Given the description of an element on the screen output the (x, y) to click on. 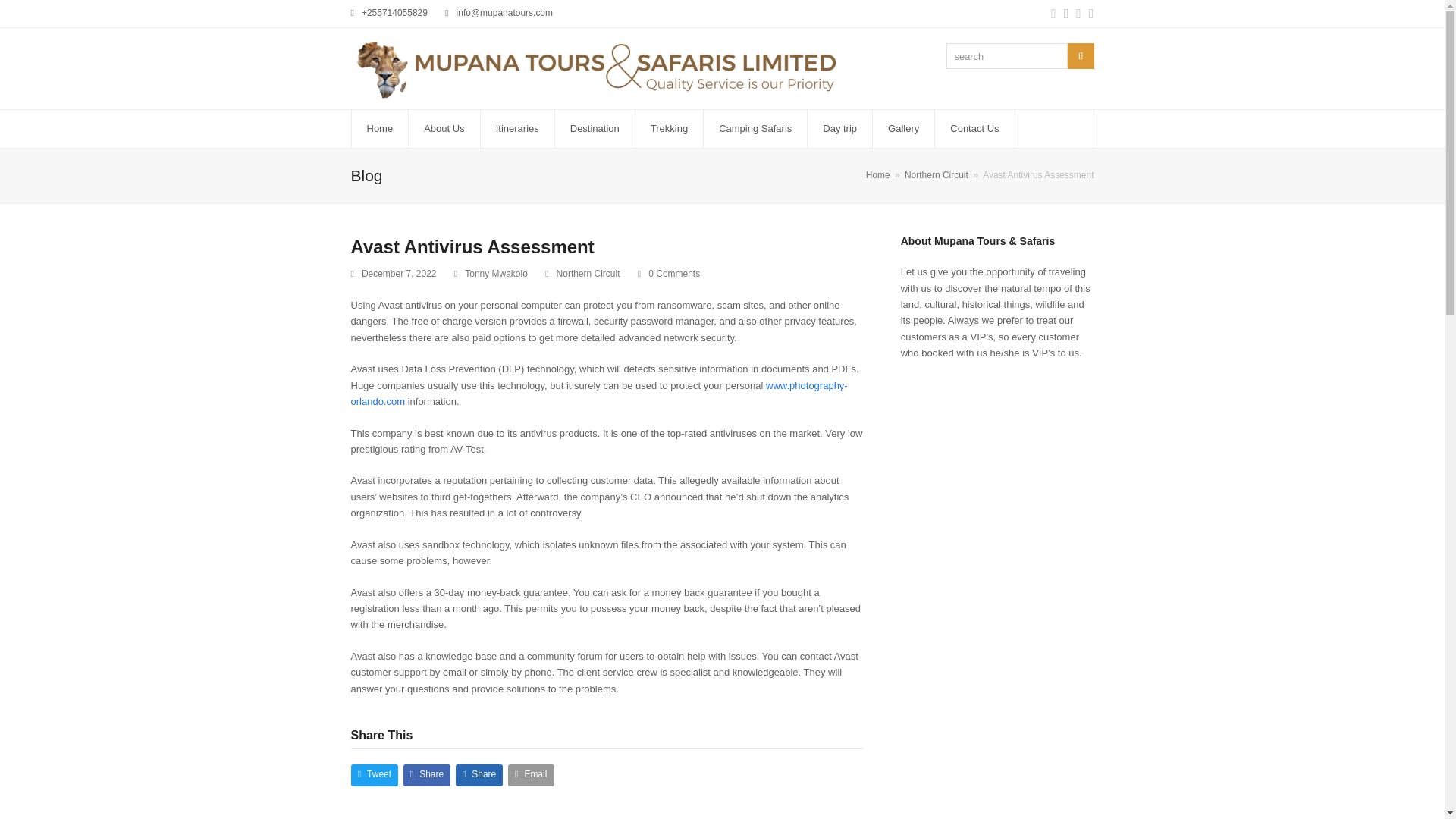
Posts by Tonny Mwakolo (495, 273)
Search (1080, 55)
Tonny Mwakolo (495, 273)
Northern Circuit (588, 273)
Northern Circuit (936, 174)
Share (479, 775)
Home (380, 128)
www.photography-orlando.com (598, 393)
Facebook (1066, 13)
About Us (444, 128)
Twitter (1054, 13)
Twitter (1054, 13)
Contact Us (973, 128)
Email (531, 775)
Camping Safaris (754, 128)
